Given the description of an element on the screen output the (x, y) to click on. 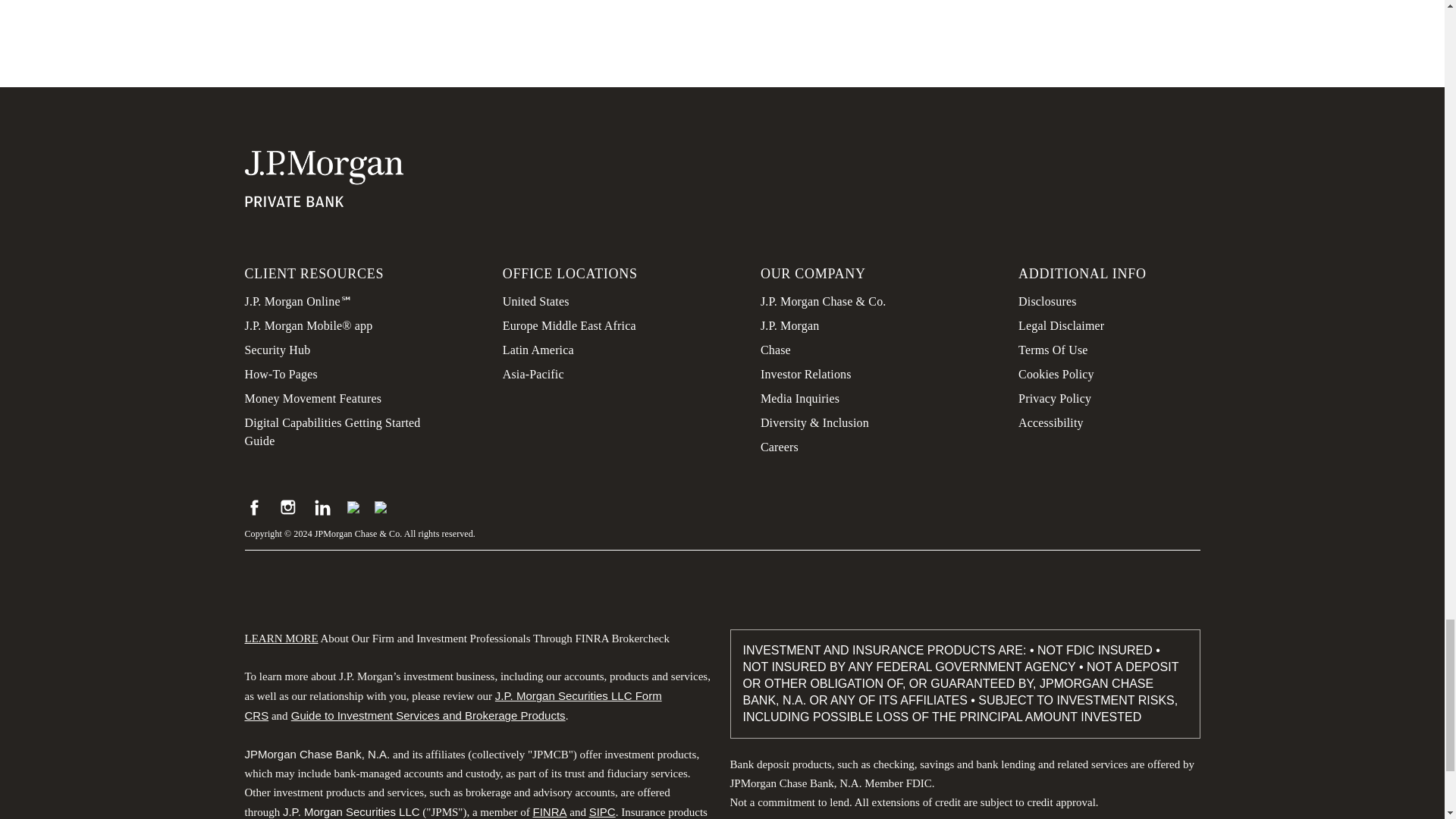
Follow link (428, 715)
Learn more - opens in new tab (280, 638)
Follow link (549, 811)
Follow link (602, 811)
